Given the description of an element on the screen output the (x, y) to click on. 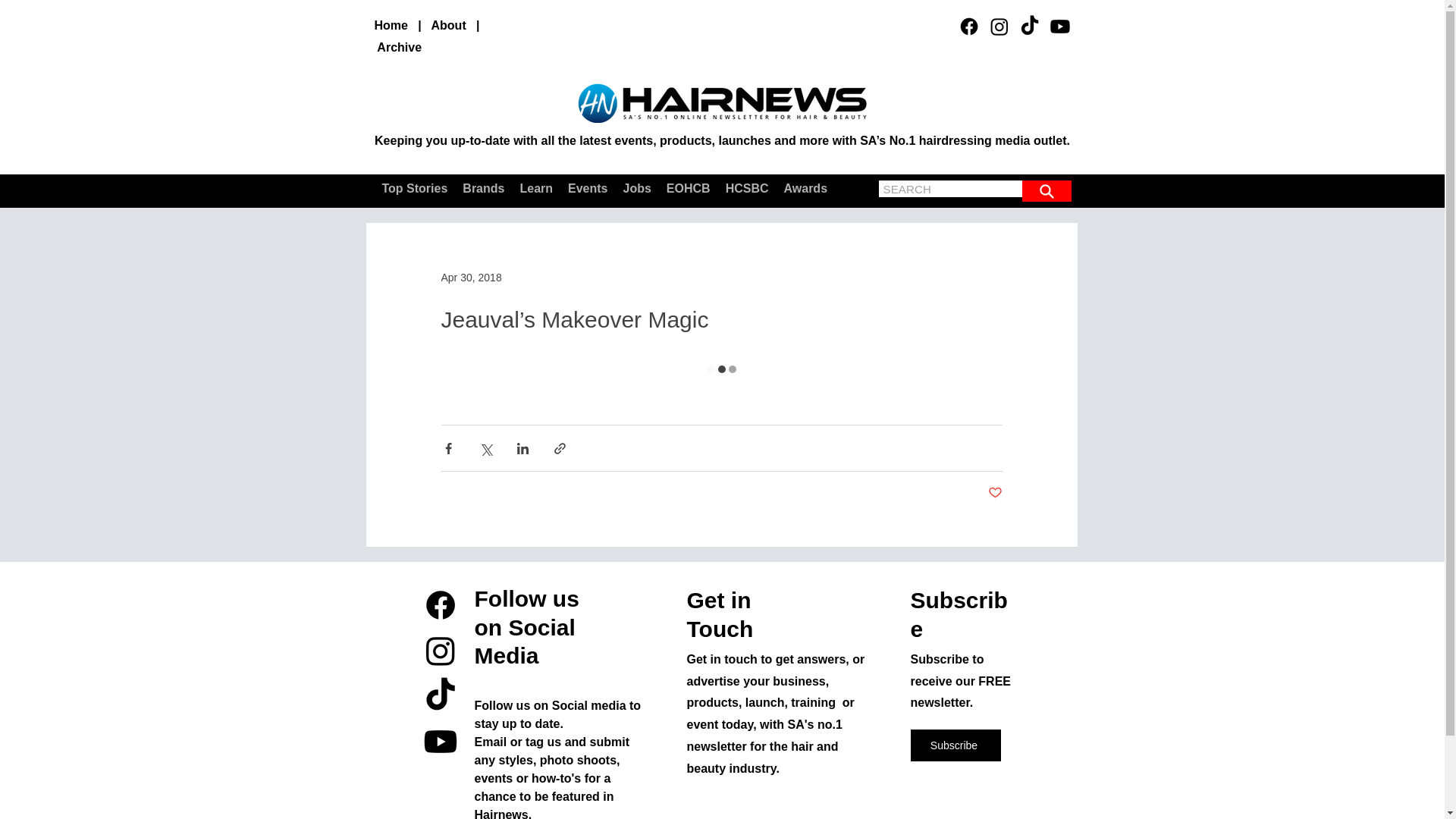
Top Stories (414, 188)
About (447, 24)
Brands (483, 188)
Subscribe (955, 745)
Jobs (637, 188)
Awards (805, 188)
Events (587, 188)
Archive (399, 47)
Post not marked as liked (994, 493)
Learn (536, 188)
